Given the description of an element on the screen output the (x, y) to click on. 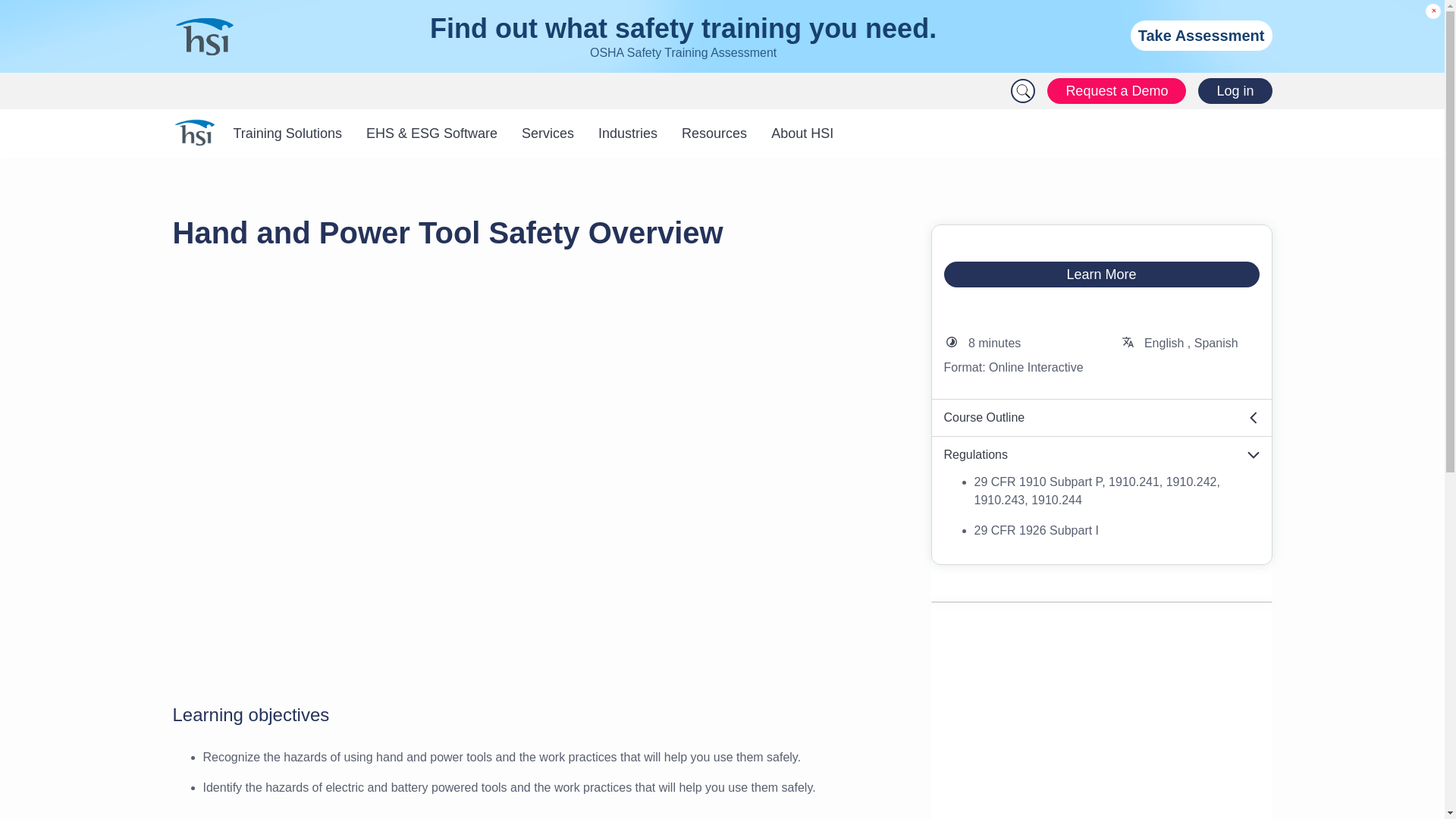
Opens in a new window (1101, 454)
Take Assessment (1201, 35)
Request a Demo (1116, 90)
Opens in a new window (1101, 417)
Training Solutions (287, 133)
Log in (1234, 90)
